Given the description of an element on the screen output the (x, y) to click on. 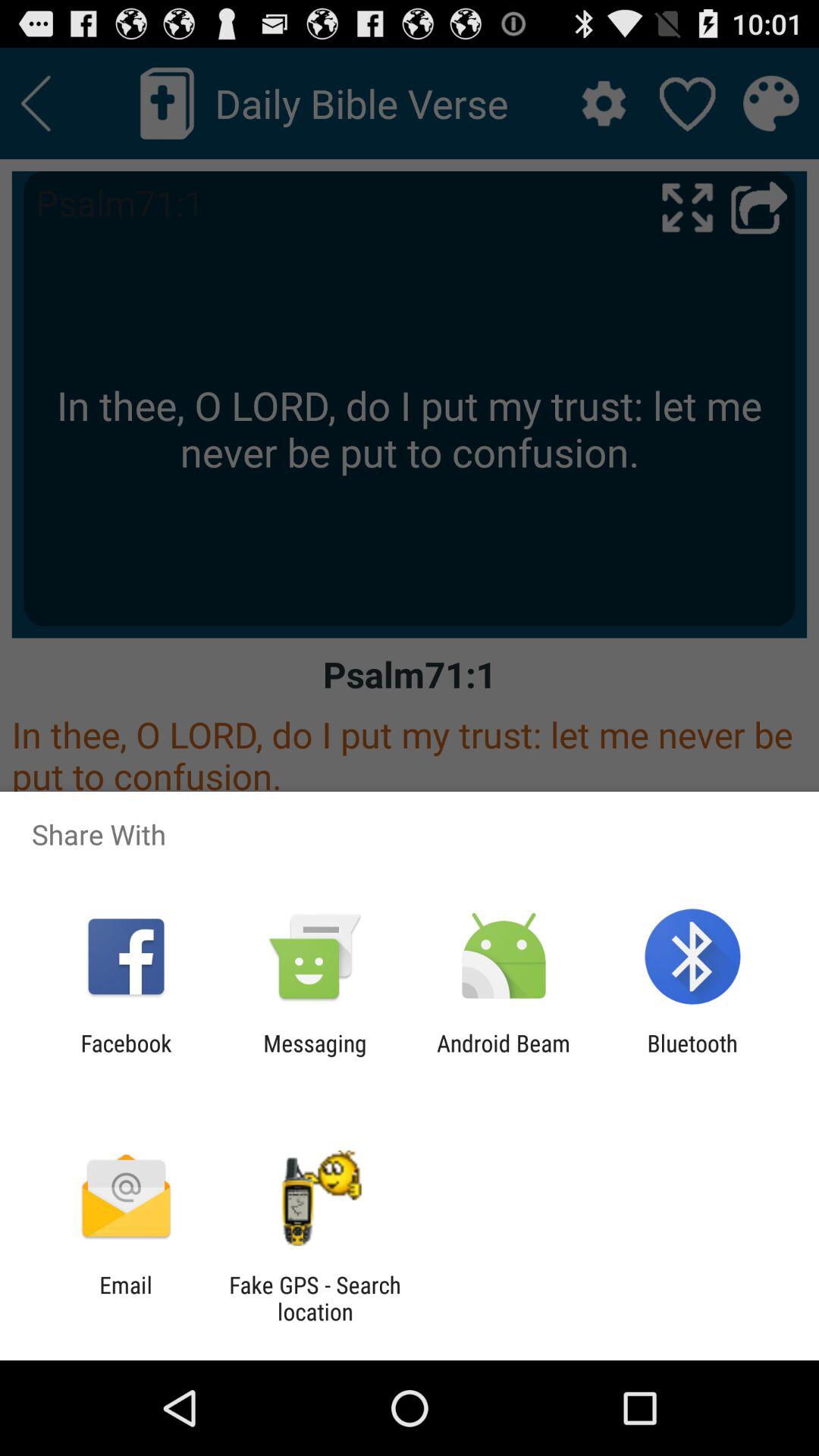
click the icon to the right of messaging icon (503, 1056)
